Given the description of an element on the screen output the (x, y) to click on. 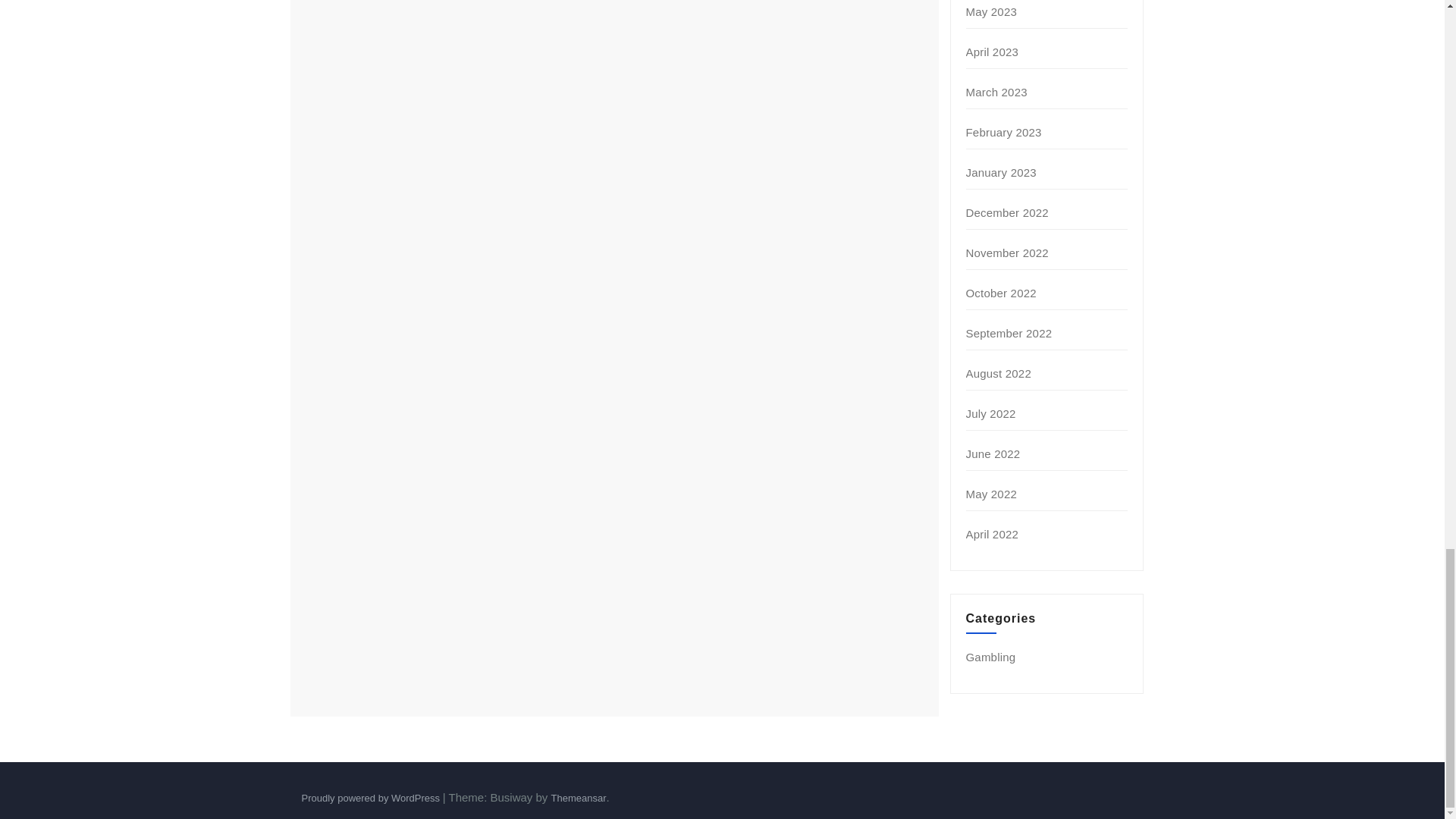
May 2023 (991, 11)
January 2023 (1001, 172)
December 2022 (1007, 212)
March 2023 (996, 91)
April 2023 (992, 51)
February 2023 (1004, 132)
